Given the description of an element on the screen output the (x, y) to click on. 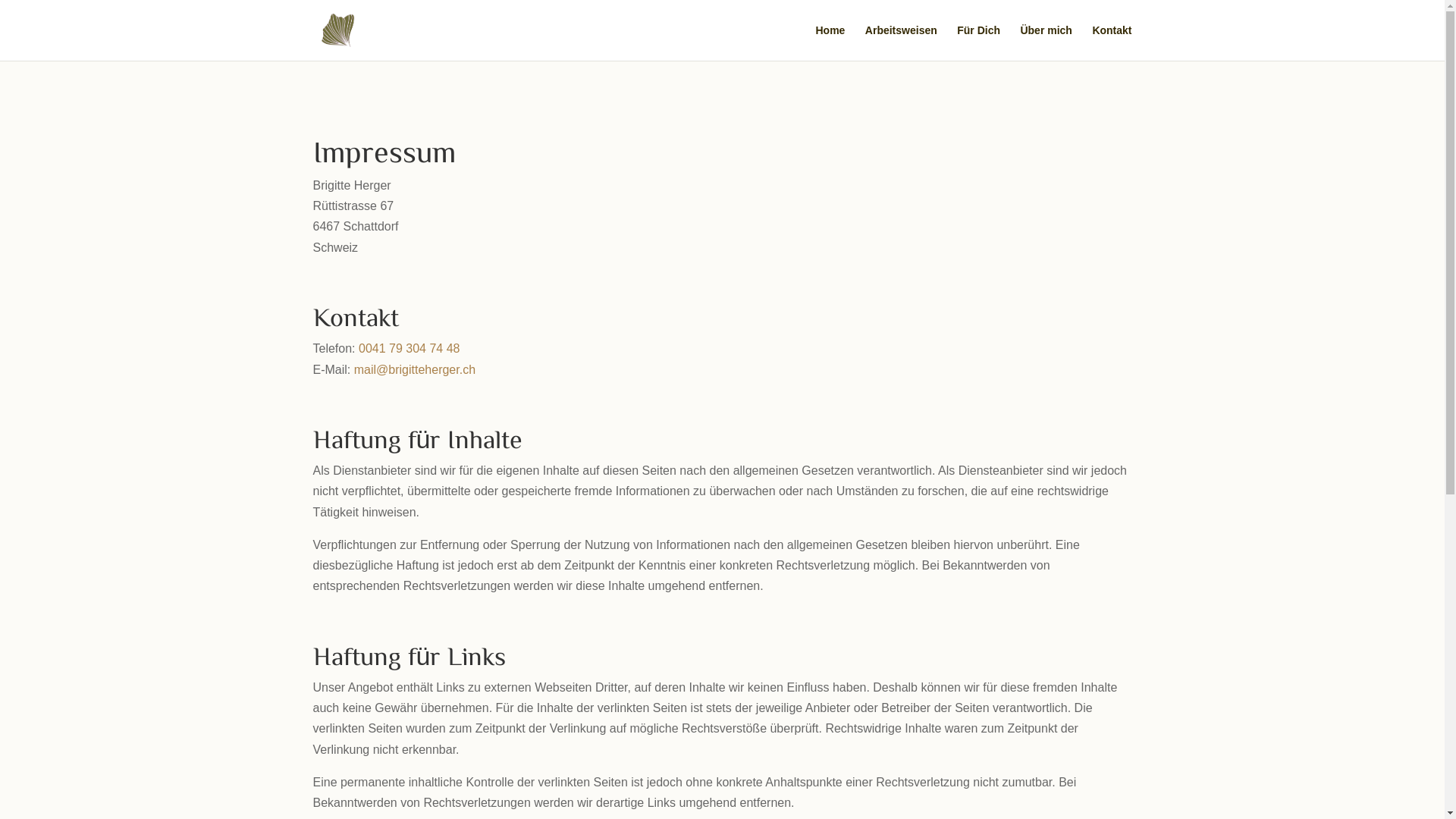
Arbeitsweisen Element type: text (901, 42)
Home Element type: text (829, 42)
0041 79 304 74 48 Element type: text (408, 348)
Kontakt Element type: text (1111, 42)
mail@brigitteherger.ch Element type: text (414, 369)
